Given the description of an element on the screen output the (x, y) to click on. 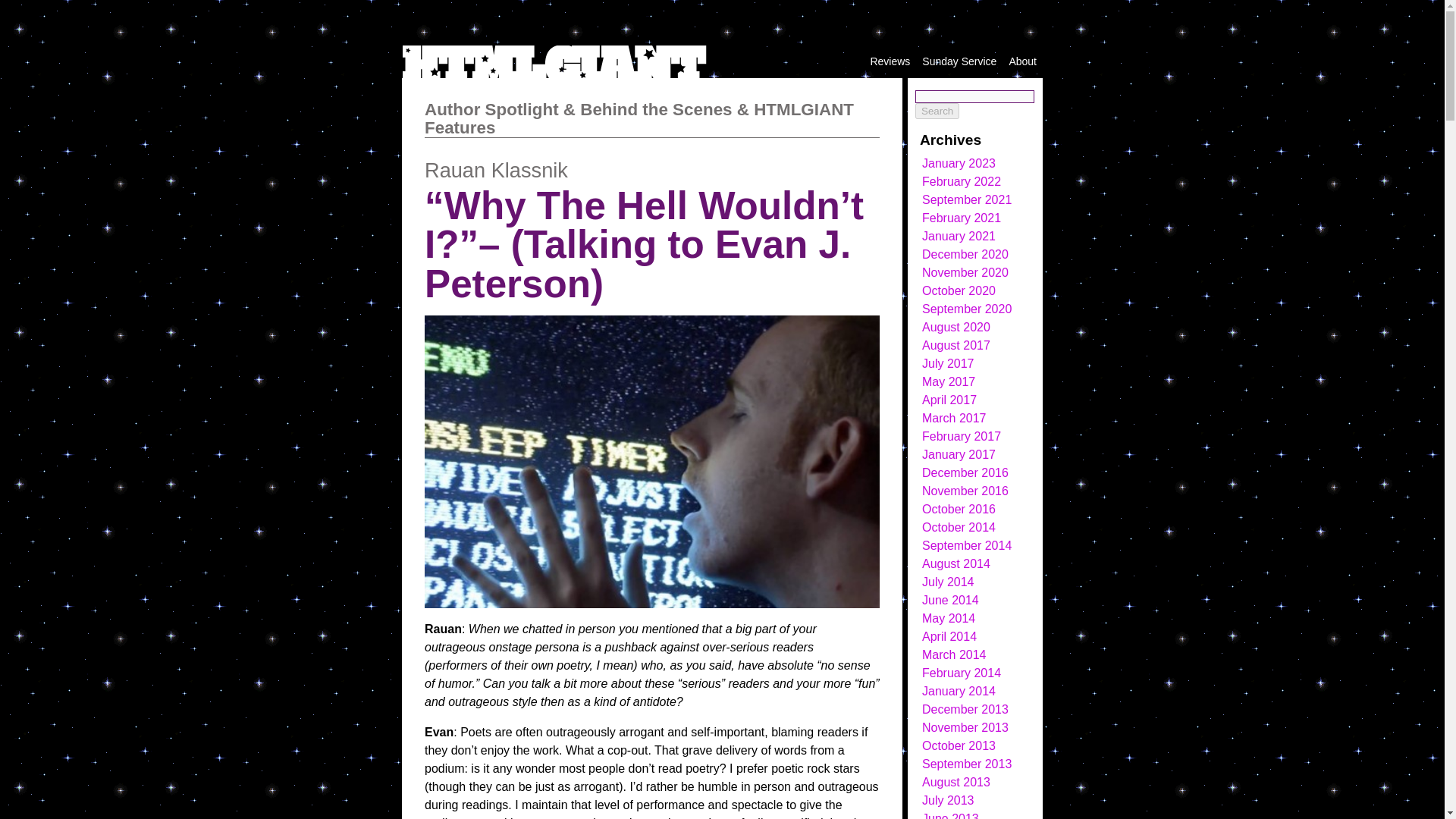
Author Spotlight (492, 108)
Reviews (889, 61)
Search (937, 110)
About (1022, 61)
Posts by Rauan Klassnik (496, 169)
Behind the Scenes (655, 108)
Search (937, 110)
Sunday Service (958, 61)
HTMLGIANT Features (639, 118)
Rauan Klassnik (496, 169)
